Given the description of an element on the screen output the (x, y) to click on. 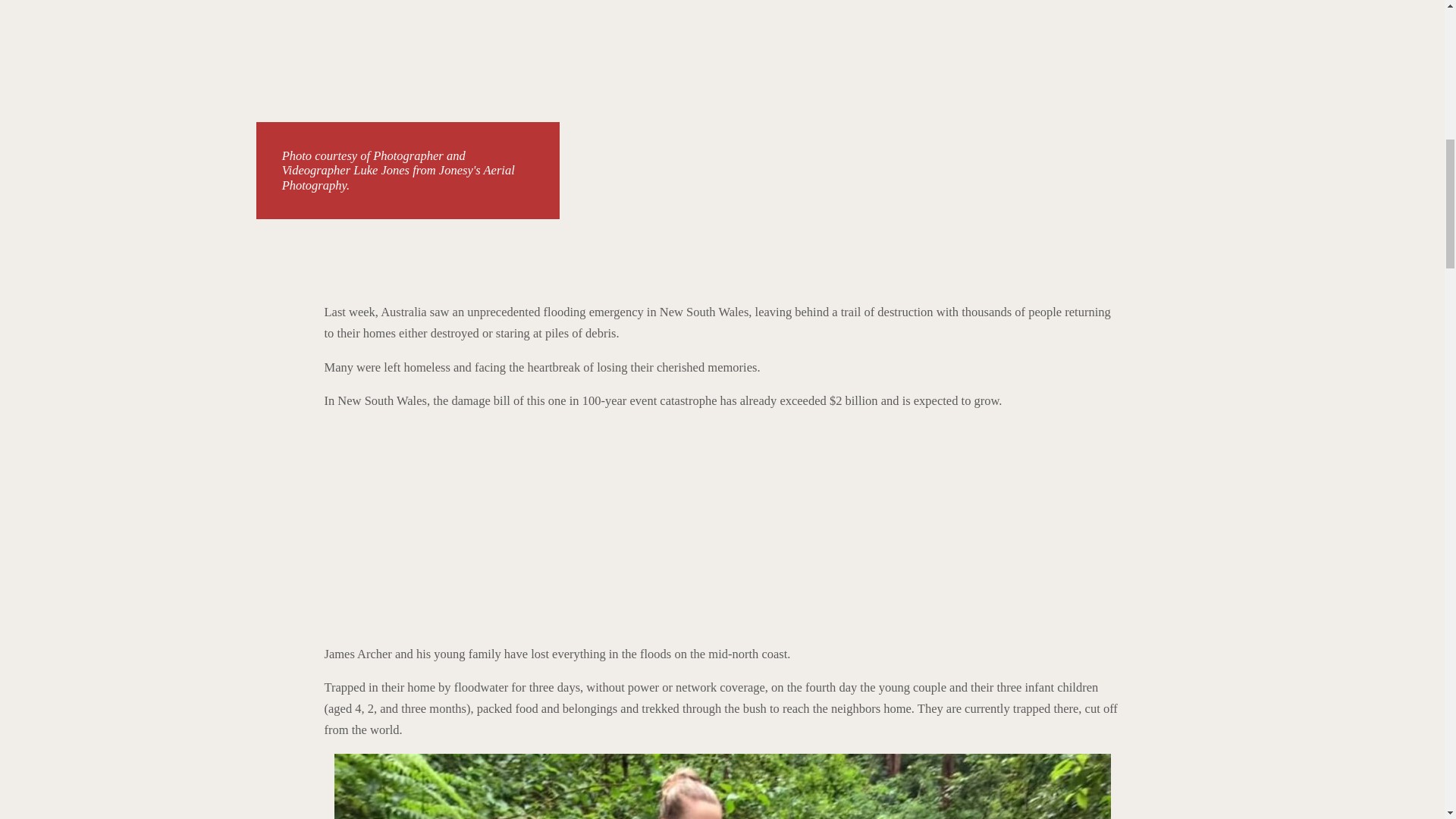
See video of 'life-threatening' floods in Australia (513, 531)
